Given the description of an element on the screen output the (x, y) to click on. 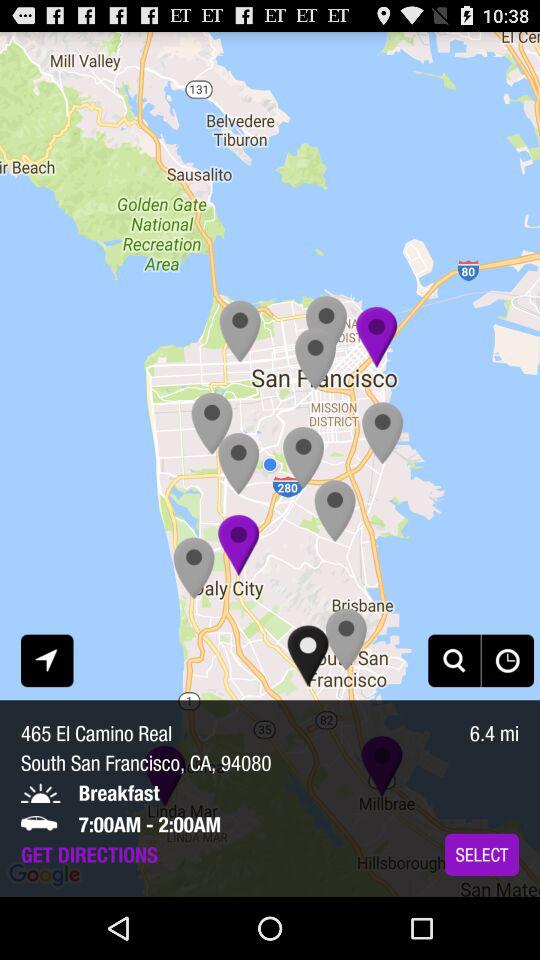
select the icon above the 465 el camino app (47, 660)
